Given the description of an element on the screen output the (x, y) to click on. 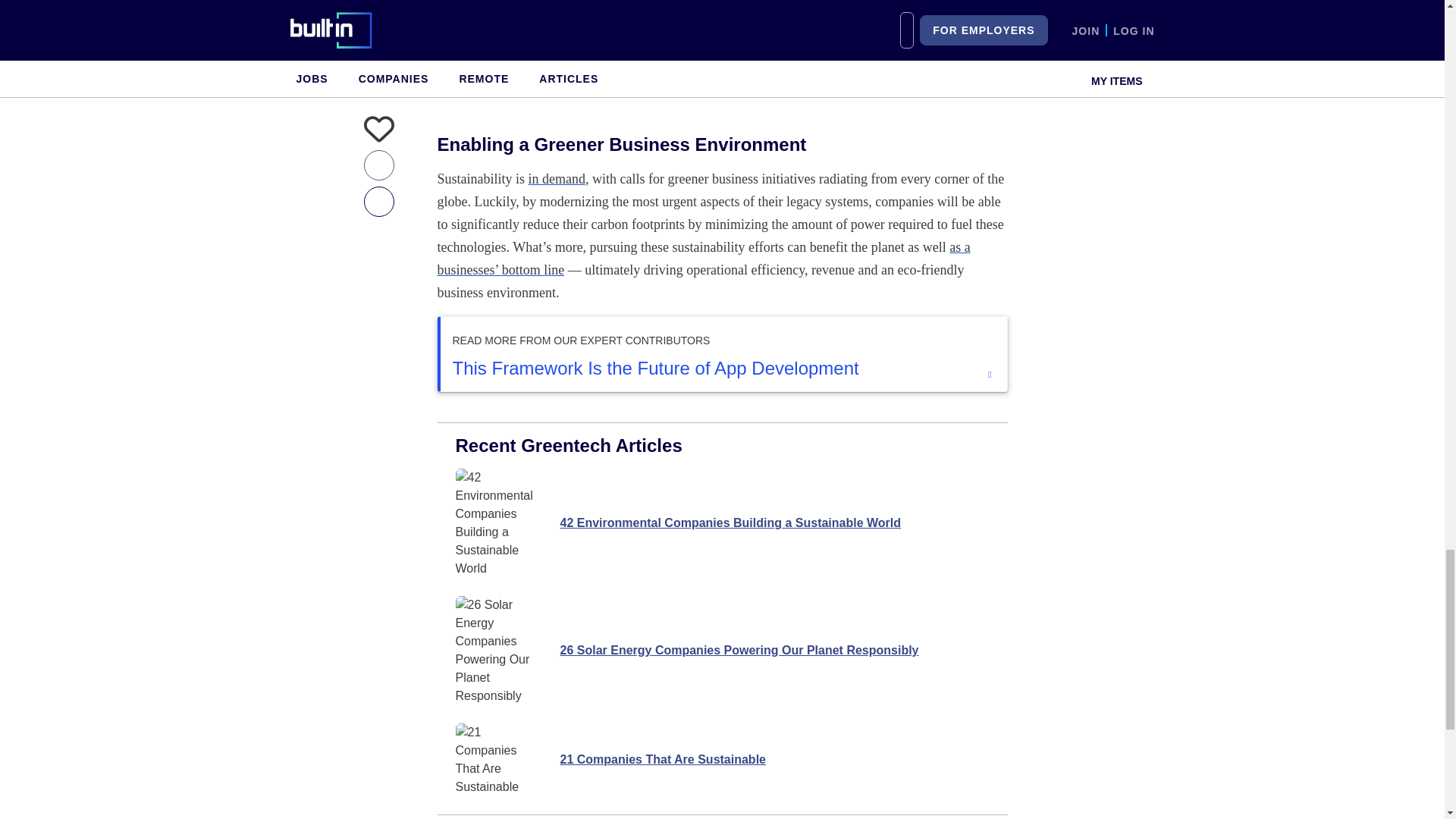
This Framework Is the Future of App Development (722, 368)
26 Solar Energy Companies Powering Our Planet Responsibly (721, 650)
21 Companies That Are Sustainable (721, 759)
42 Environmental Companies Building a Sustainable World (721, 523)
in demand (556, 178)
